Given the description of an element on the screen output the (x, y) to click on. 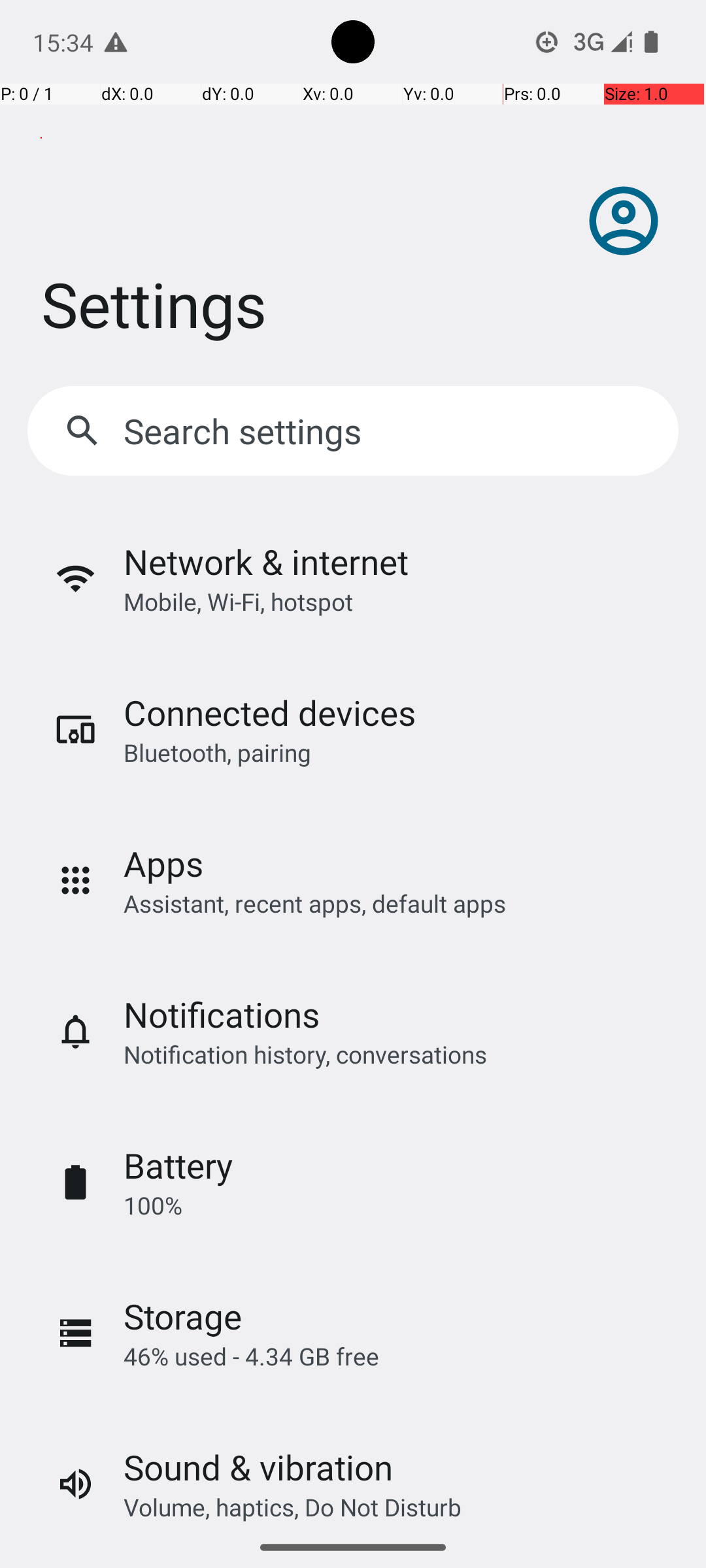
46% used - 4.34 GB free Element type: android.widget.TextView (251, 1355)
